Given the description of an element on the screen output the (x, y) to click on. 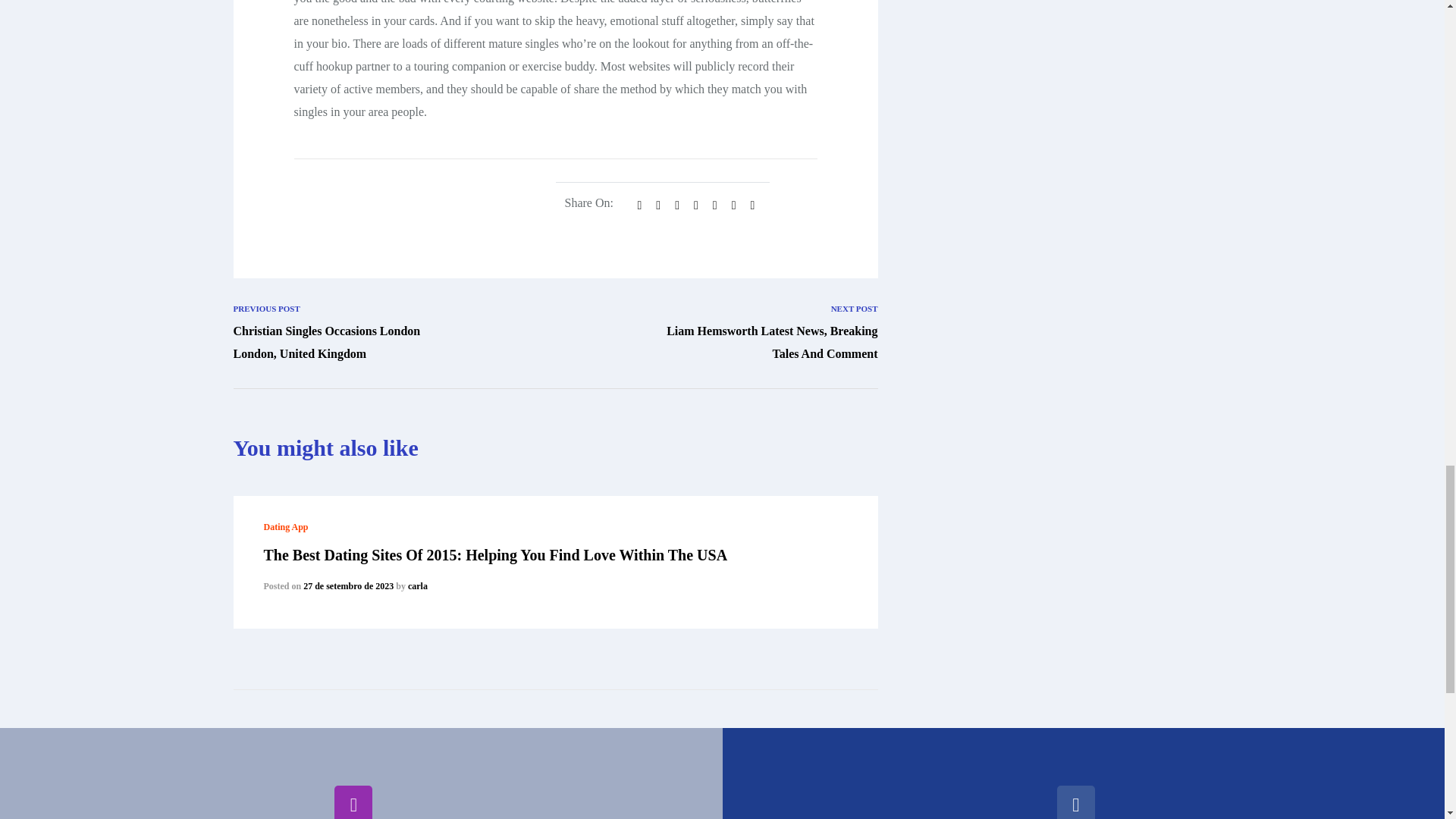
Dating App (285, 526)
27 de setembro de 2023 (347, 585)
